Given the description of an element on the screen output the (x, y) to click on. 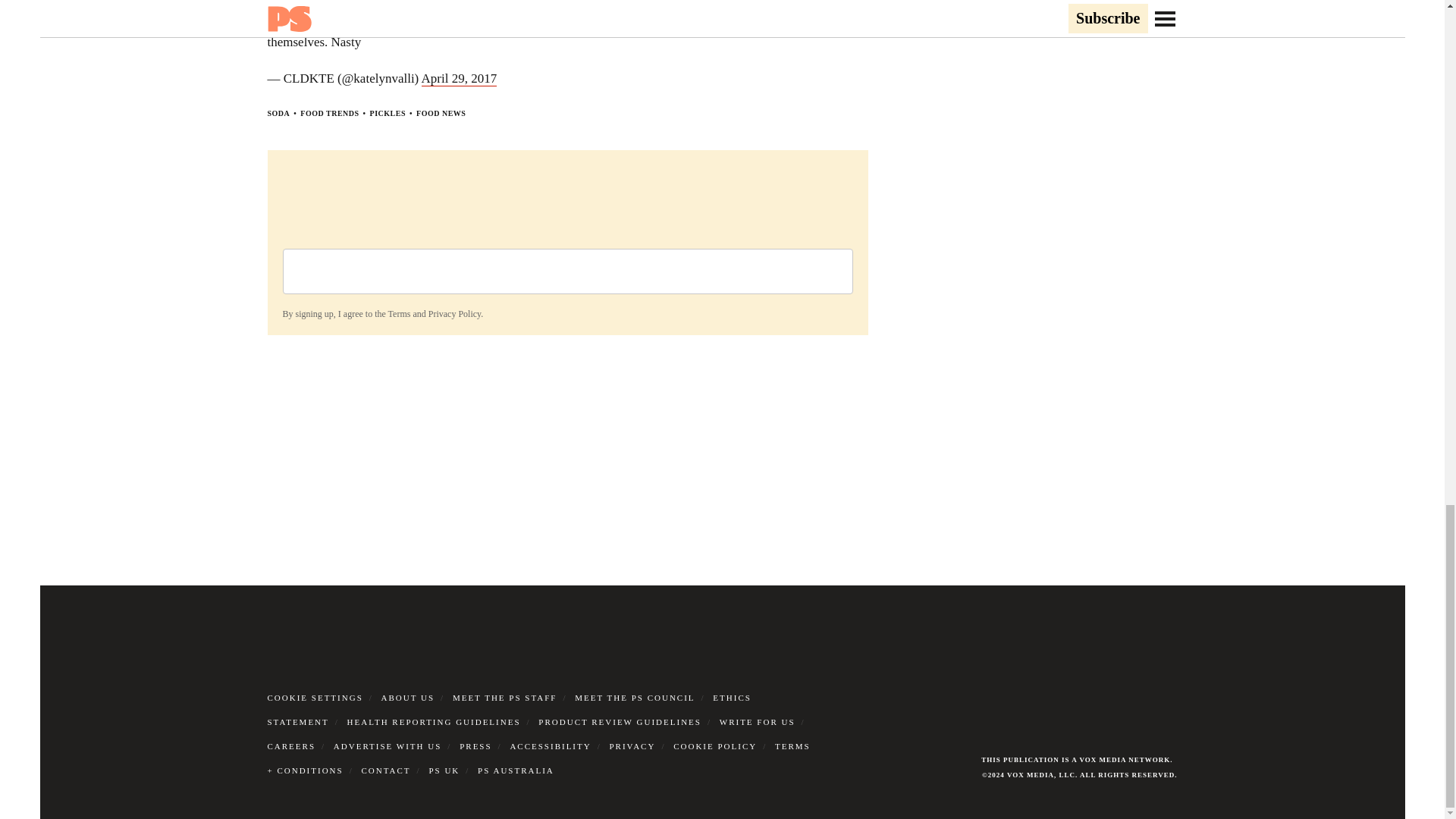
Privacy Policy. (455, 313)
MEET THE PS COUNCIL (634, 697)
FOOD NEWS (440, 112)
FOOD TRENDS (328, 112)
ETHICS STATEMENT (508, 709)
HEALTH REPORTING GUIDELINES (434, 721)
ABOUT US (408, 697)
PRODUCT REVIEW GUIDELINES (619, 721)
MEET THE PS STAFF (504, 697)
Terms (399, 313)
